Given the description of an element on the screen output the (x, y) to click on. 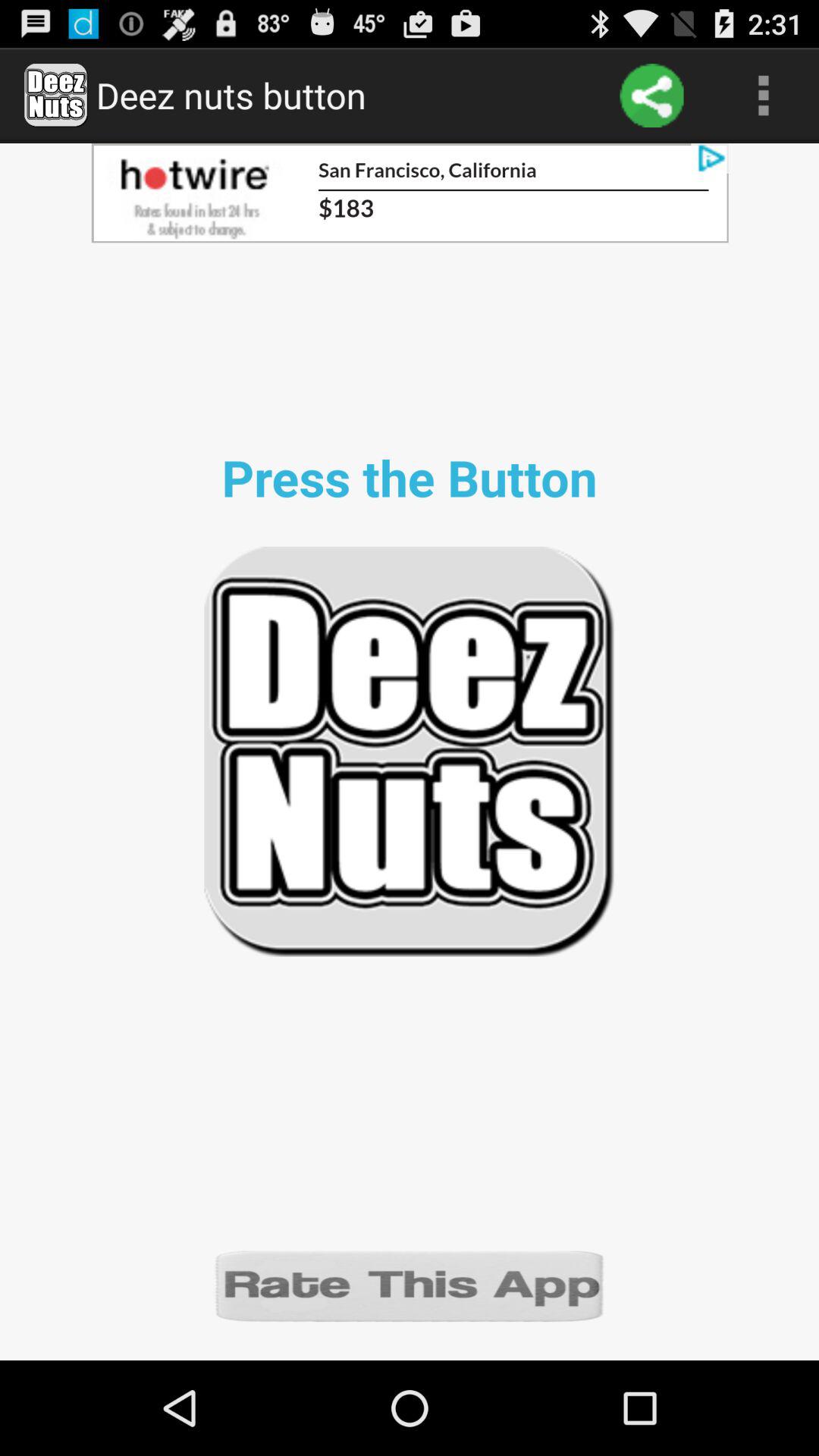
advertising bar (409, 192)
